Given the description of an element on the screen output the (x, y) to click on. 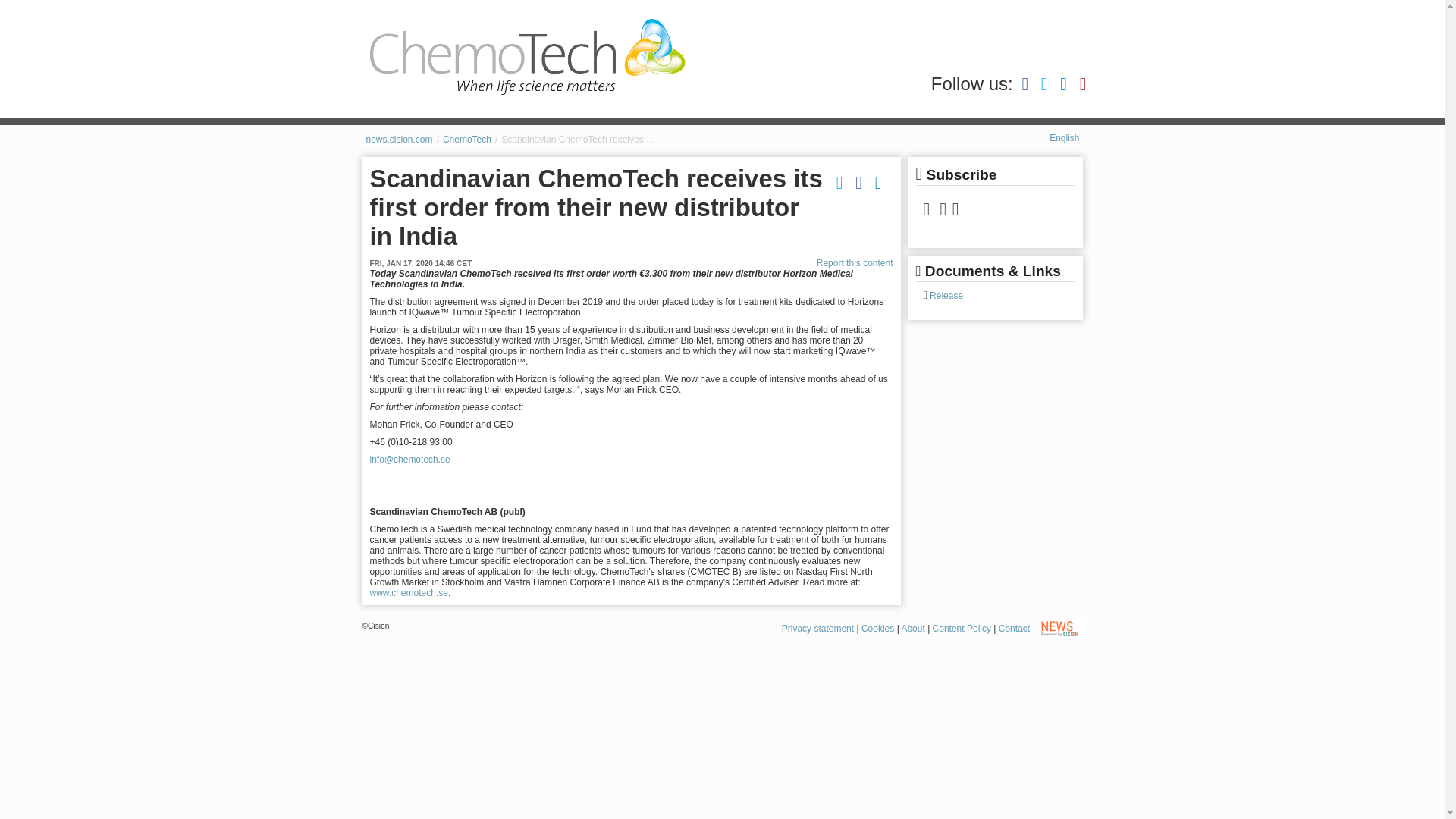
ChemoTech (527, 56)
Cookies (877, 628)
Content Policy (962, 628)
news.cision.com (398, 139)
ChemoTech (467, 139)
www.chemotech.se (408, 593)
English (1063, 137)
Release (944, 295)
Report this content (854, 262)
ChemoTech (467, 139)
